Given the description of an element on the screen output the (x, y) to click on. 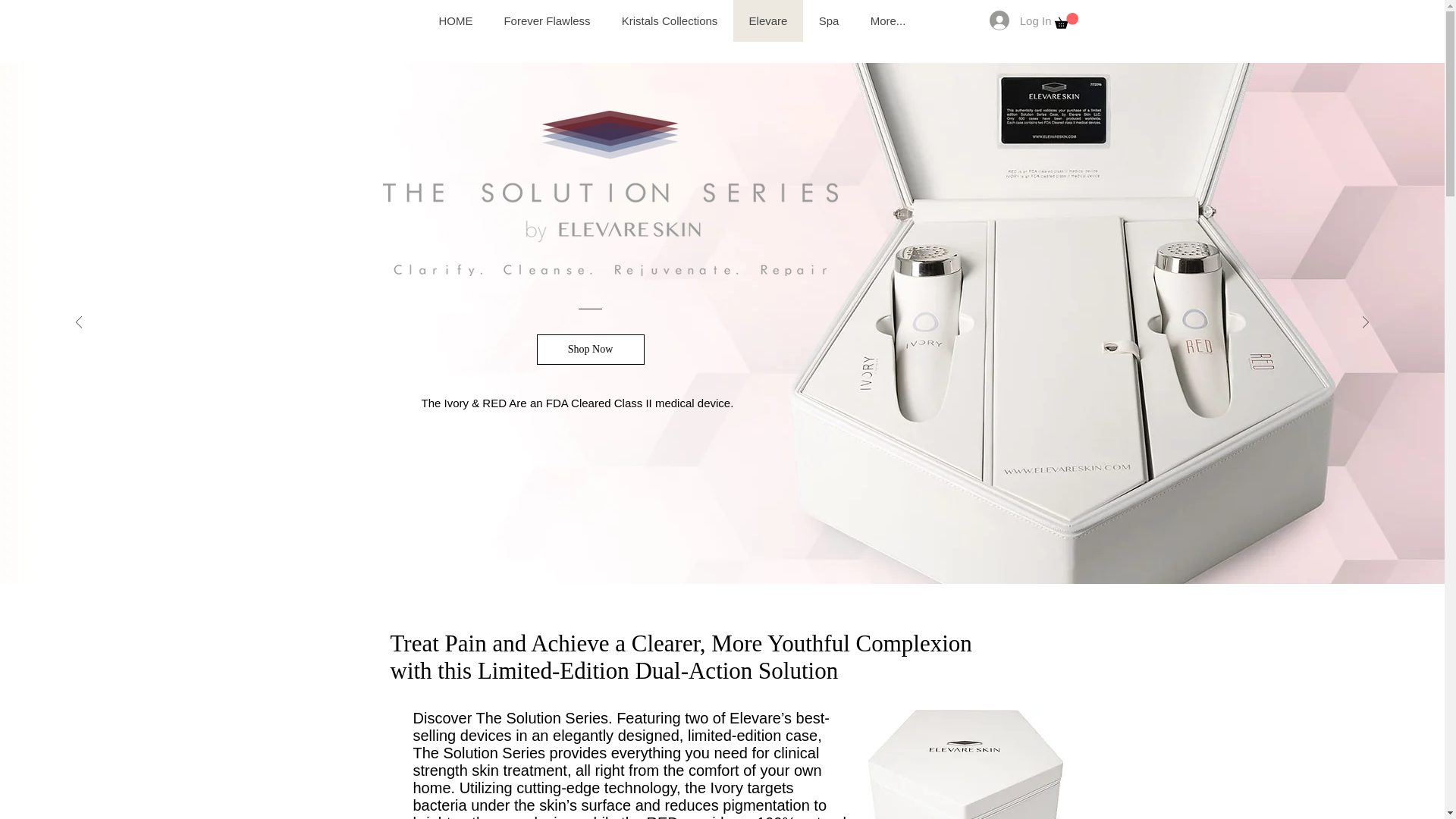
Shop Now (591, 349)
Log In (1020, 20)
Forever Flawless (546, 20)
HOME (455, 20)
Kristals Collections (668, 20)
Elevare (767, 20)
Spa (827, 20)
